Given the description of an element on the screen output the (x, y) to click on. 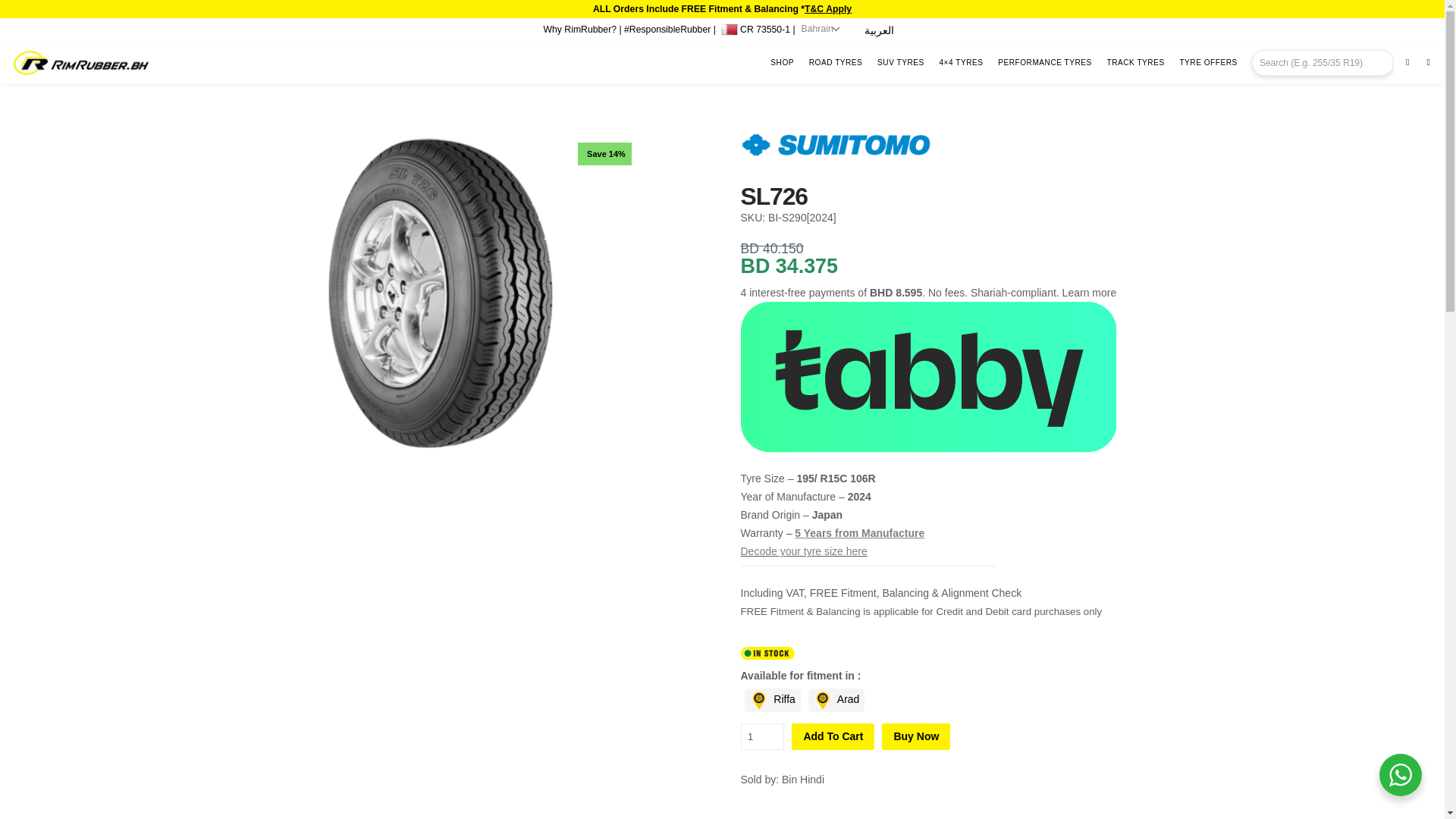
Decode your tyre size here (802, 551)
SUV TYRES (903, 62)
TYRE OFFERS (1211, 62)
PERFORMANCE TYRES (1047, 62)
TRACK TYRES (1138, 62)
Add To Cart (833, 736)
Why RimRubber? (579, 29)
ROAD TYRES (838, 62)
Language switcher : Arabic (879, 30)
Buy Now (916, 736)
1 (761, 736)
5 Years from Manufacture (859, 532)
SHOP (784, 62)
sumitomo-sl726-left-one-quarter (439, 292)
CR 73550-1 (755, 27)
